Given the description of an element on the screen output the (x, y) to click on. 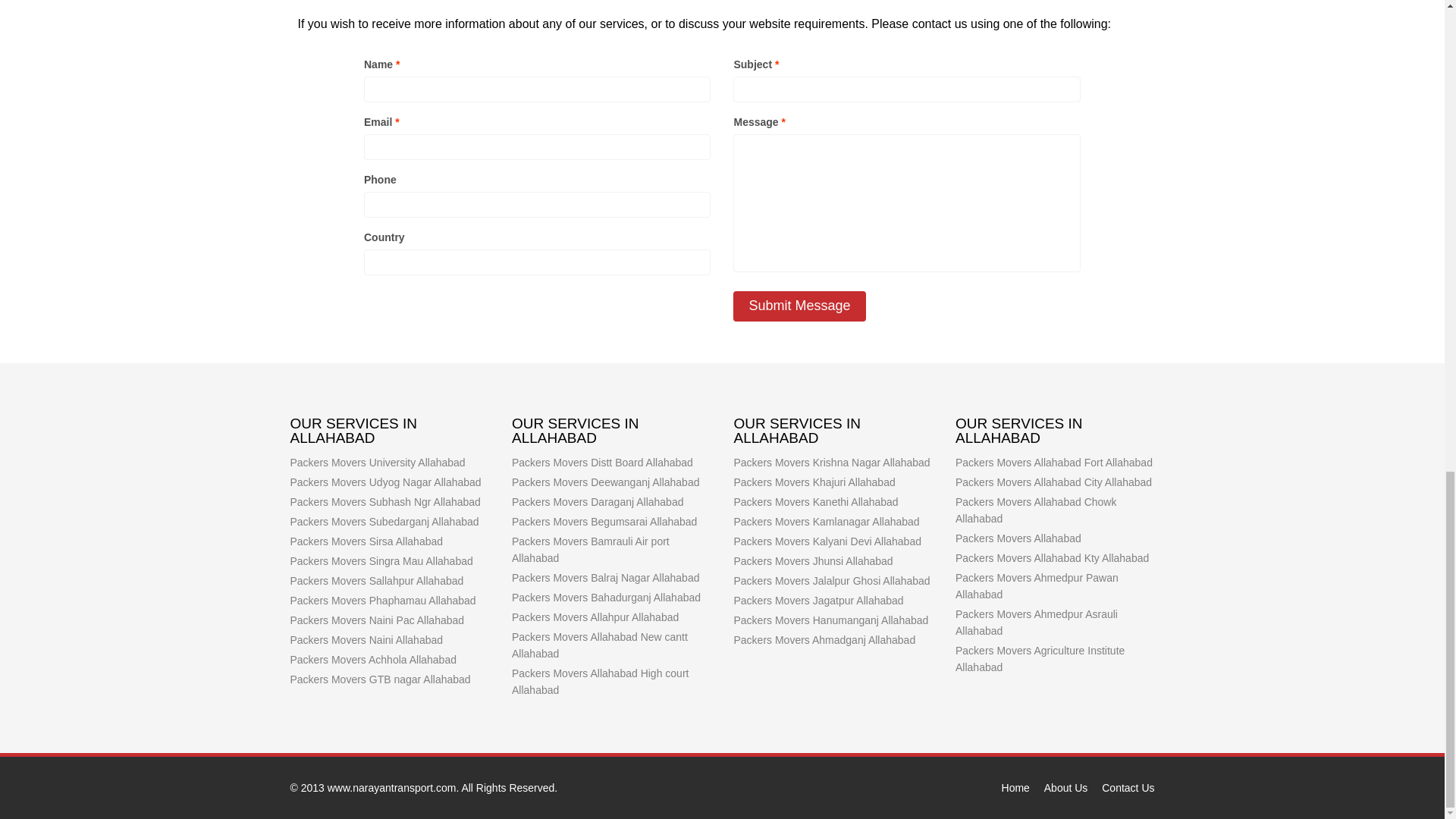
Packers Movers Udyog Nagar Allahabad (384, 481)
Packers Movers Naini Allahabad (365, 639)
Packers Movers Naini Pac Allahabad (376, 620)
Packers Movers Subhash Ngr Allahabad (384, 501)
Packers Movers Singra Mau Allahabad (380, 561)
Packers Movers University Allahabad (376, 462)
Packers Movers Subedarganj Allahabad (384, 521)
www.narayantransport.com (392, 787)
Packers Movers Sallahpur Allahabad (376, 580)
Packers Movers Sirsa Allahabad (365, 541)
